Given the description of an element on the screen output the (x, y) to click on. 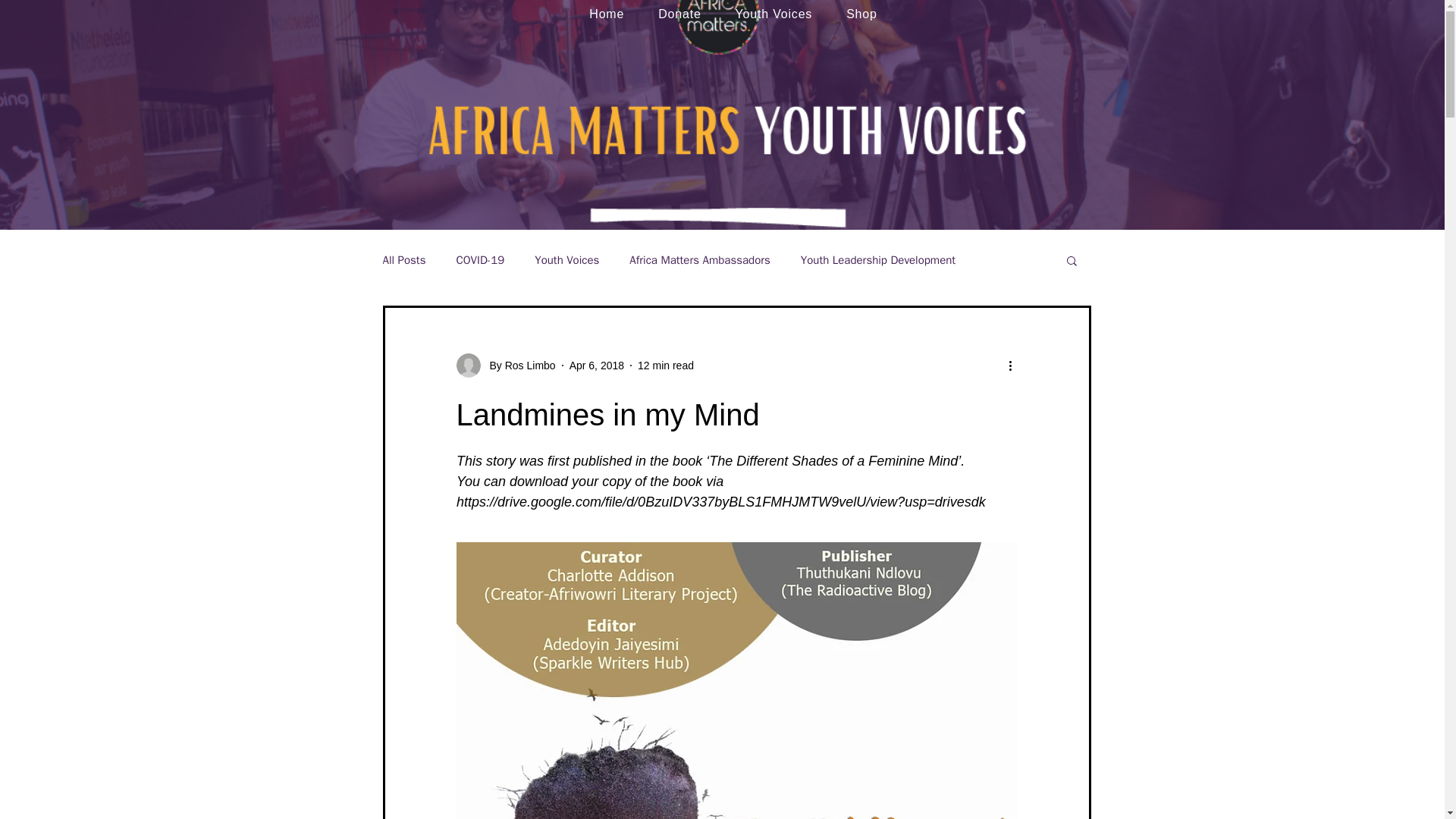
COVID-19 (479, 260)
Africa Matters Ambassadors (699, 260)
By Ros Limbo (506, 364)
By Ros Limbo (518, 365)
Youth Voices (774, 14)
12 min read (665, 365)
Youth Leadership Development (877, 260)
Apr 6, 2018 (596, 365)
Donate (678, 14)
Home (605, 14)
